Given the description of an element on the screen output the (x, y) to click on. 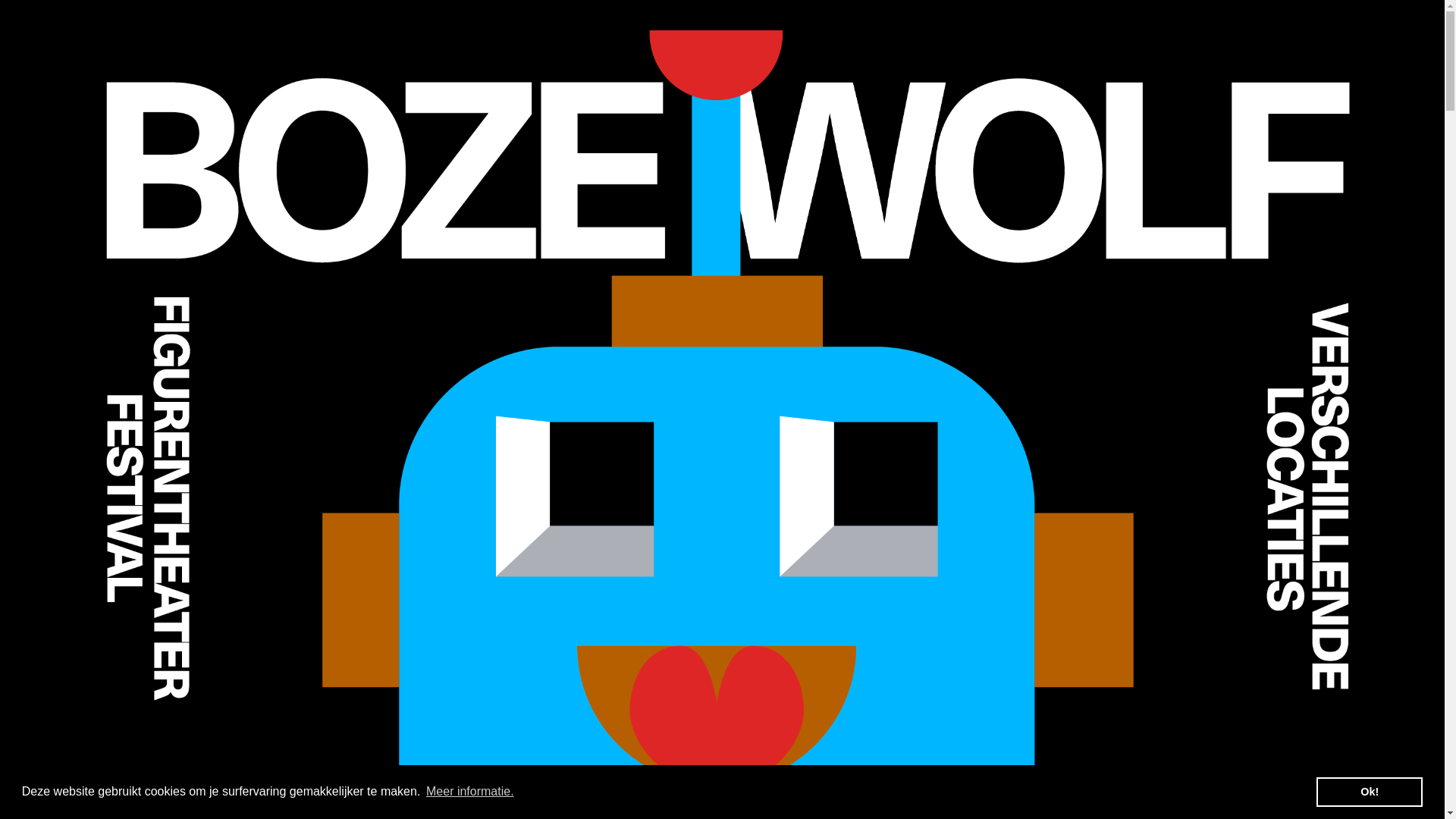
Ok! Element type: text (1369, 791)
Meer informatie. Element type: text (469, 791)
